Given the description of an element on the screen output the (x, y) to click on. 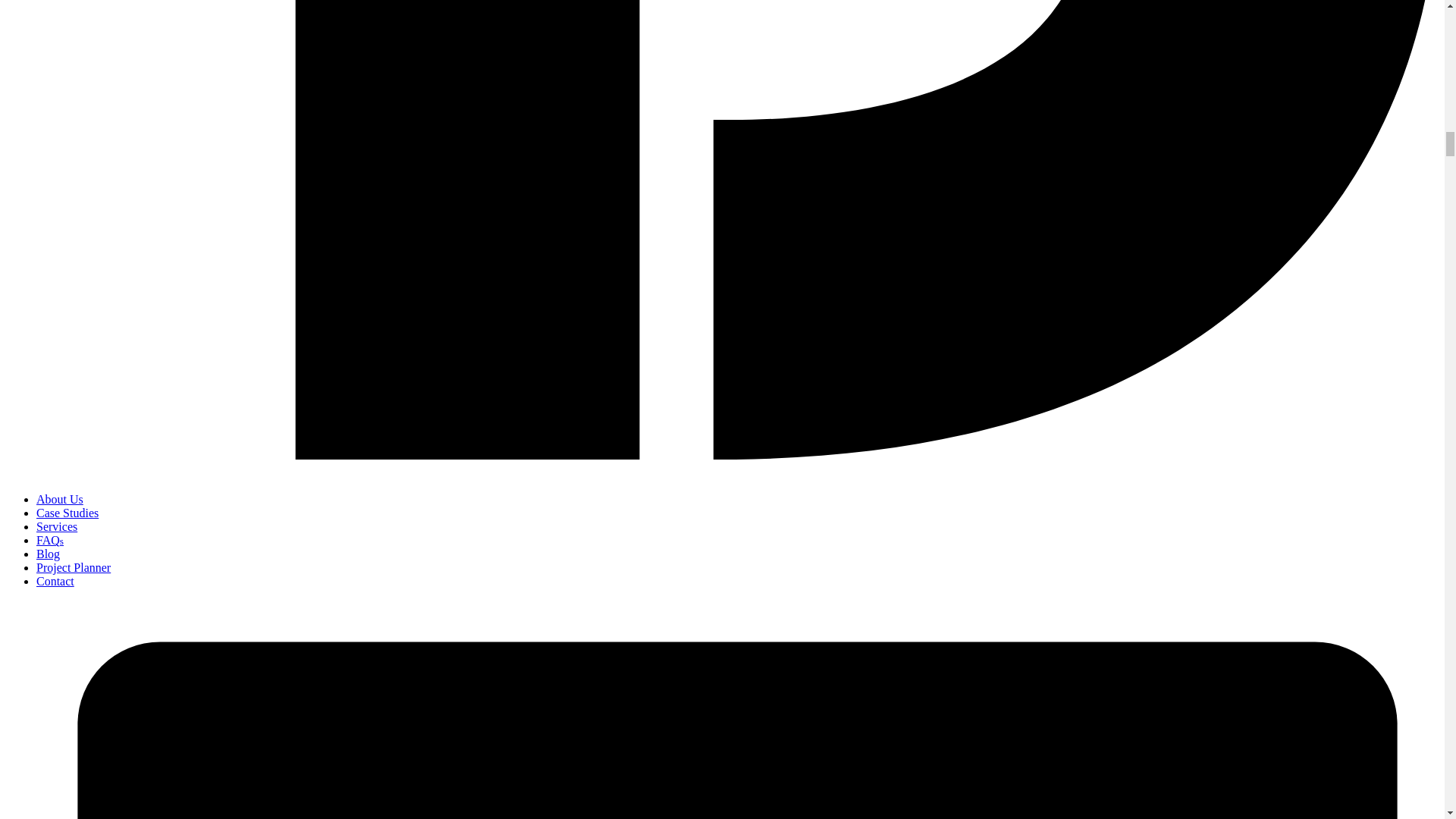
Blog (47, 553)
About Us (59, 499)
Case Studies (67, 512)
Contact (55, 581)
FAQs (50, 540)
Project Planner (73, 567)
Services (56, 526)
